Given the description of an element on the screen output the (x, y) to click on. 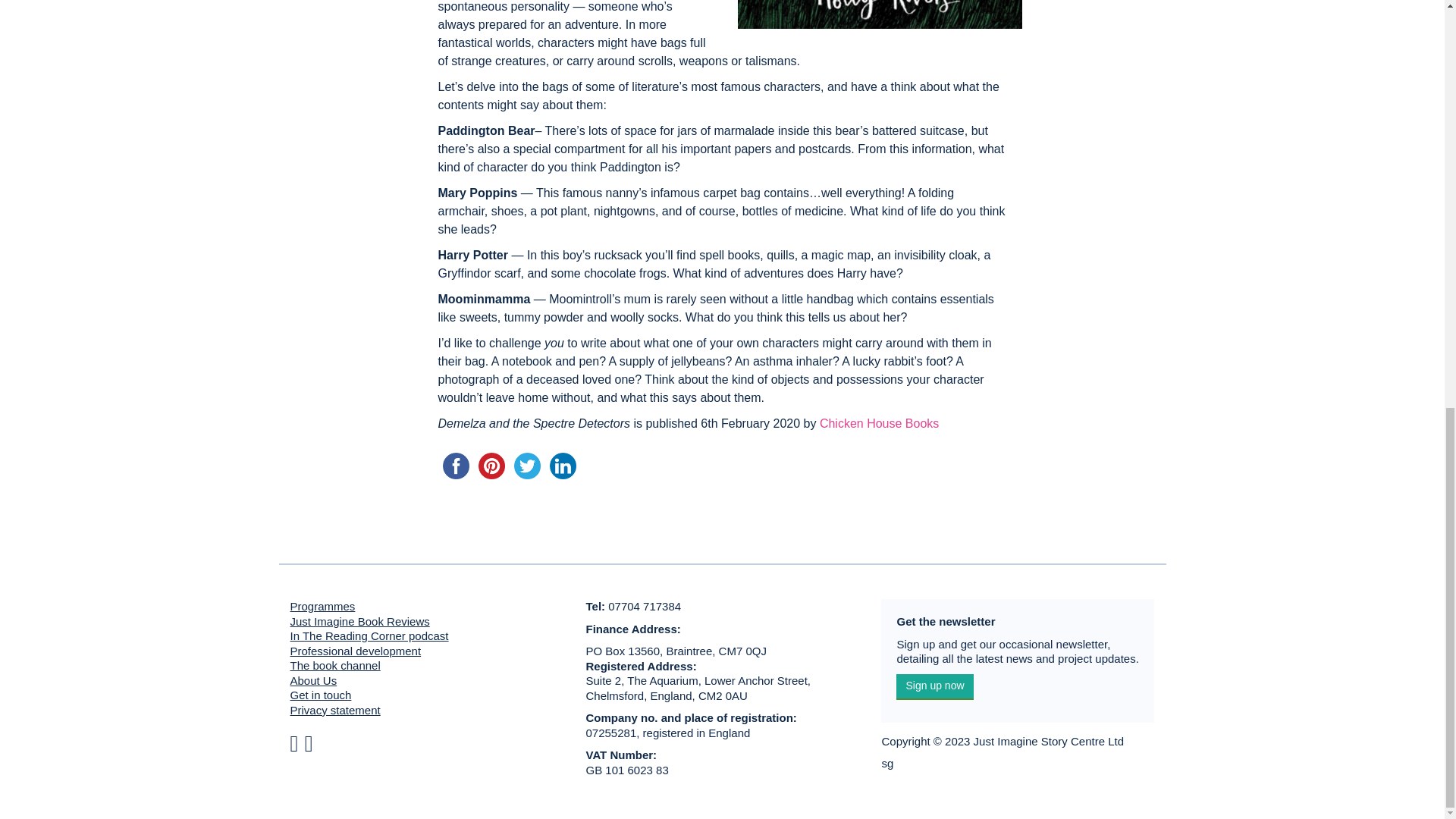
facebook (456, 465)
In The Reading Corner podcast (368, 635)
About Us (312, 680)
Just Imagine Book Reviews (359, 621)
Privacy statement (334, 709)
Sign up now (934, 687)
Chicken House Books (879, 422)
Get in touch (319, 694)
The book channel (334, 665)
pinterest (490, 465)
